Given the description of an element on the screen output the (x, y) to click on. 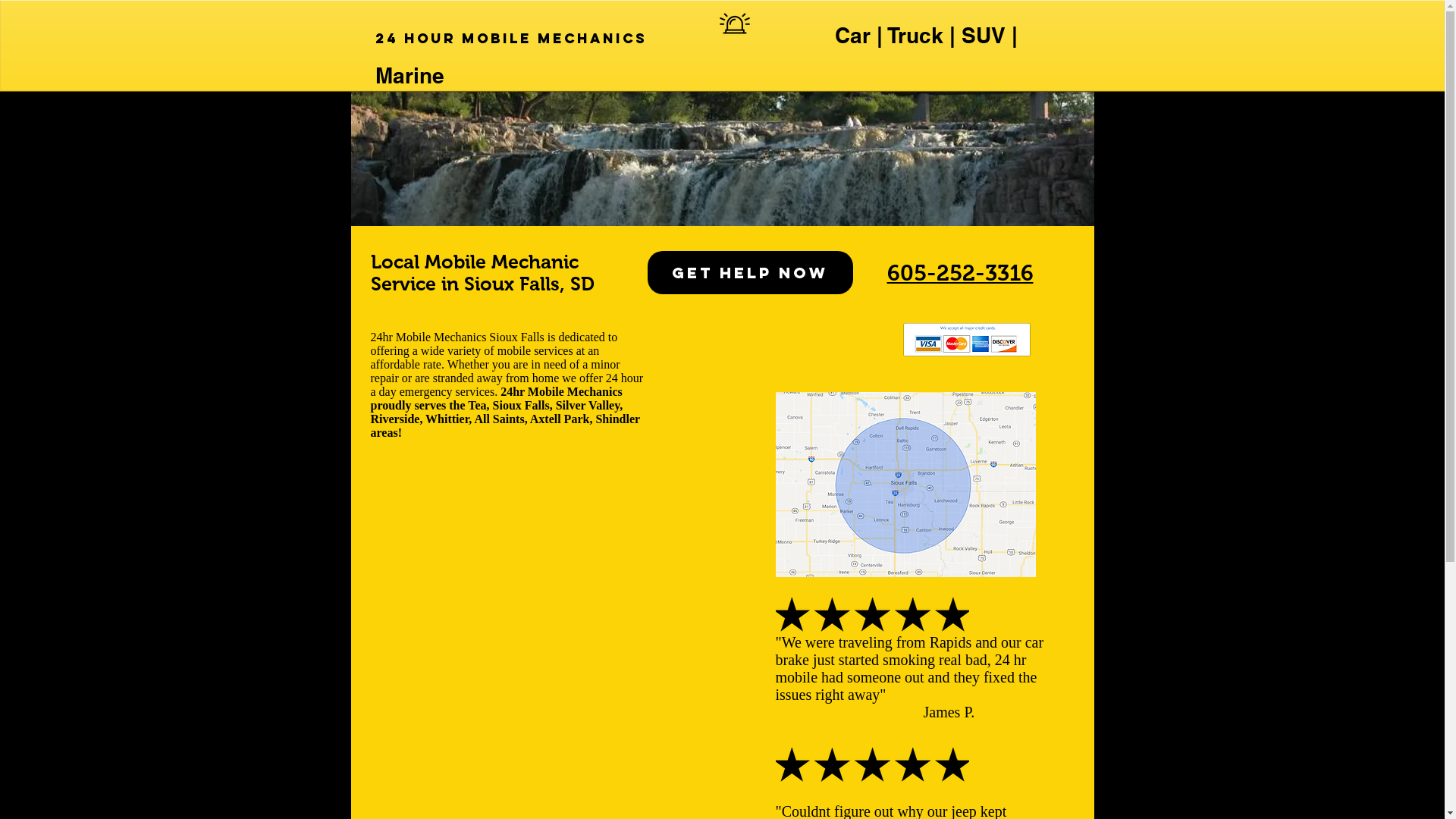
Facebook Like Element type: hover (500, 309)
Get Help Now Element type: text (750, 272)
605-252-3316 Element type: text (960, 272)
